Given the description of an element on the screen output the (x, y) to click on. 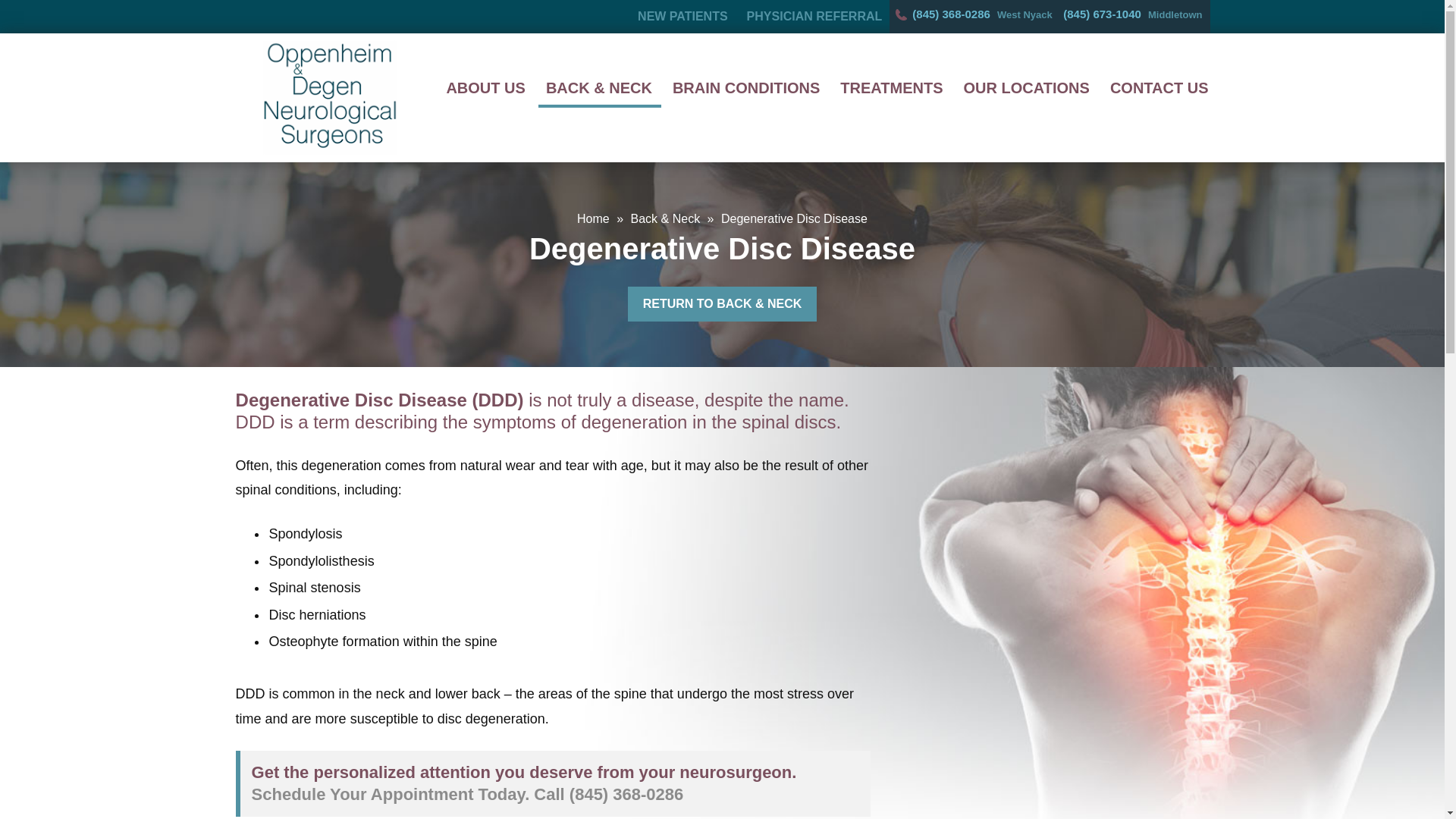
BRAIN CONDITIONS (746, 87)
PHYSICIAN REFERRAL (814, 16)
ABOUT US (485, 87)
NEW PATIENTS (682, 16)
